Given the description of an element on the screen output the (x, y) to click on. 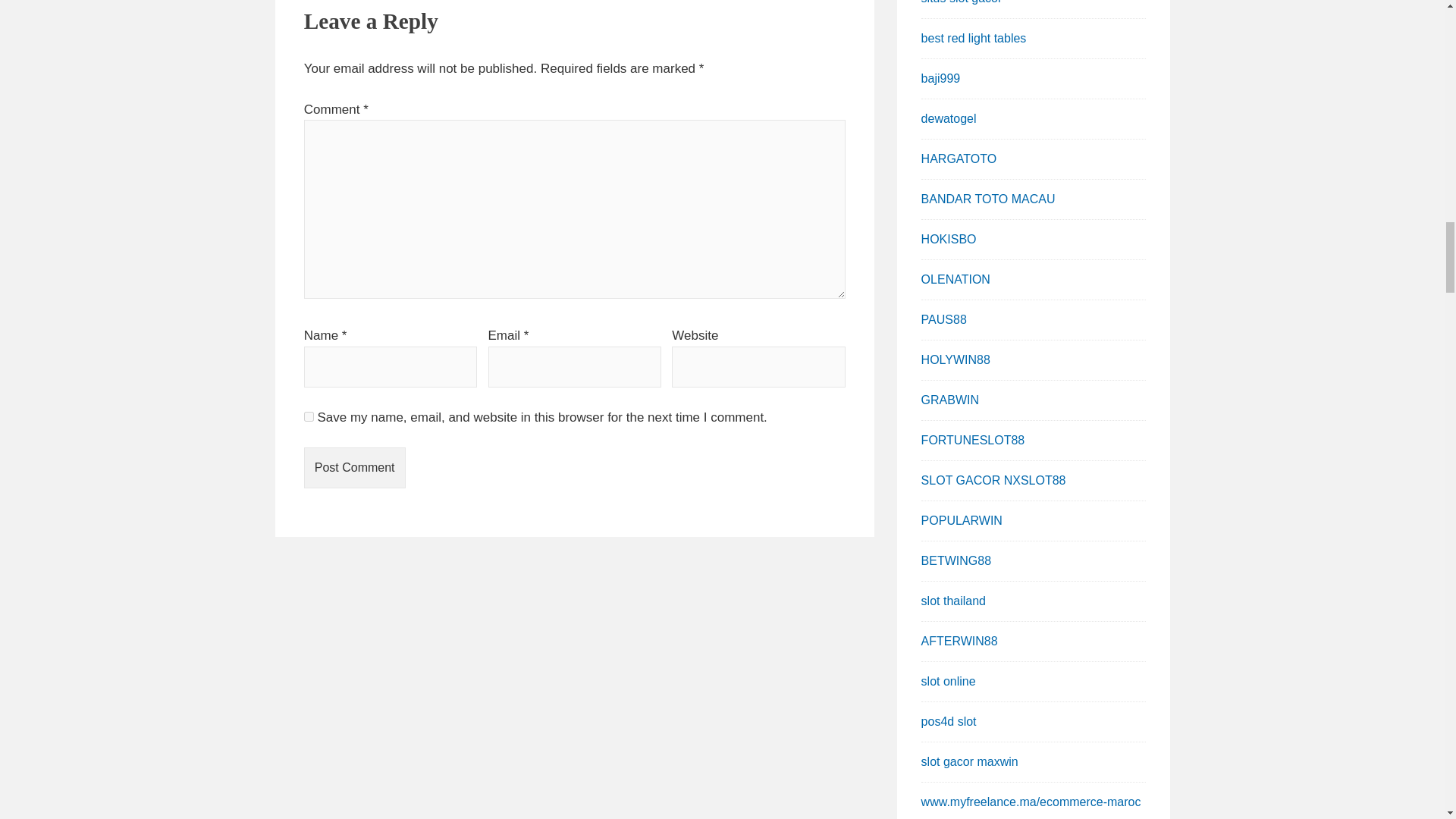
yes (309, 415)
Post Comment (355, 467)
Post Comment (355, 467)
